Given the description of an element on the screen output the (x, y) to click on. 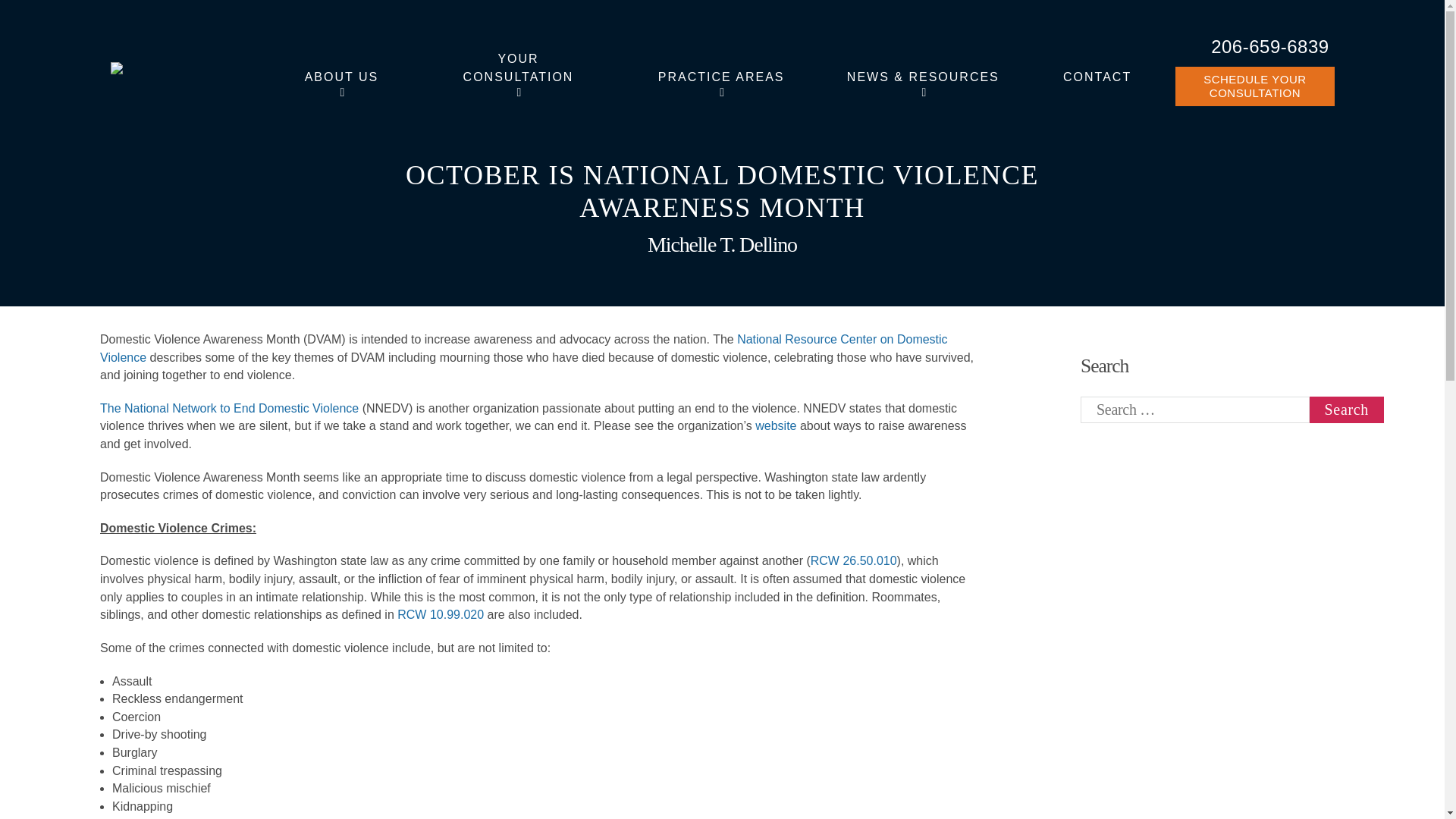
National Resource Center on Domestic Violence (523, 347)
CONTACT (1096, 77)
ABOUT US (341, 77)
RCW 26.50.010 (853, 560)
RCW 10.99.020 (440, 614)
The National Network to End Domestic Violence (229, 408)
Michelle T. Dellino (721, 244)
Search (1346, 409)
YOUR CONSULTATION (518, 68)
206-659-6839 (1269, 46)
